Given the description of an element on the screen output the (x, y) to click on. 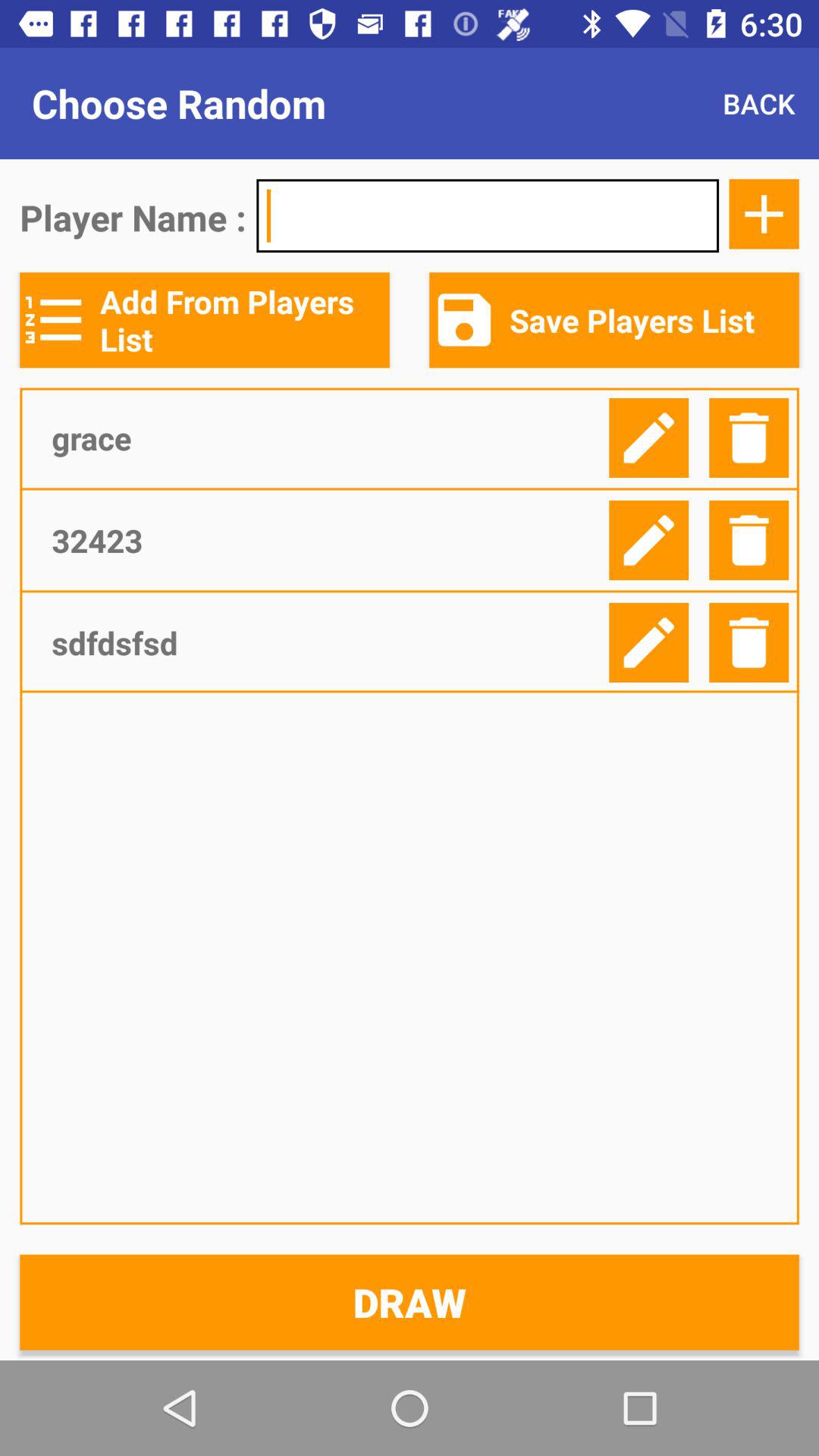
edit player name (648, 437)
